Given the description of an element on the screen output the (x, y) to click on. 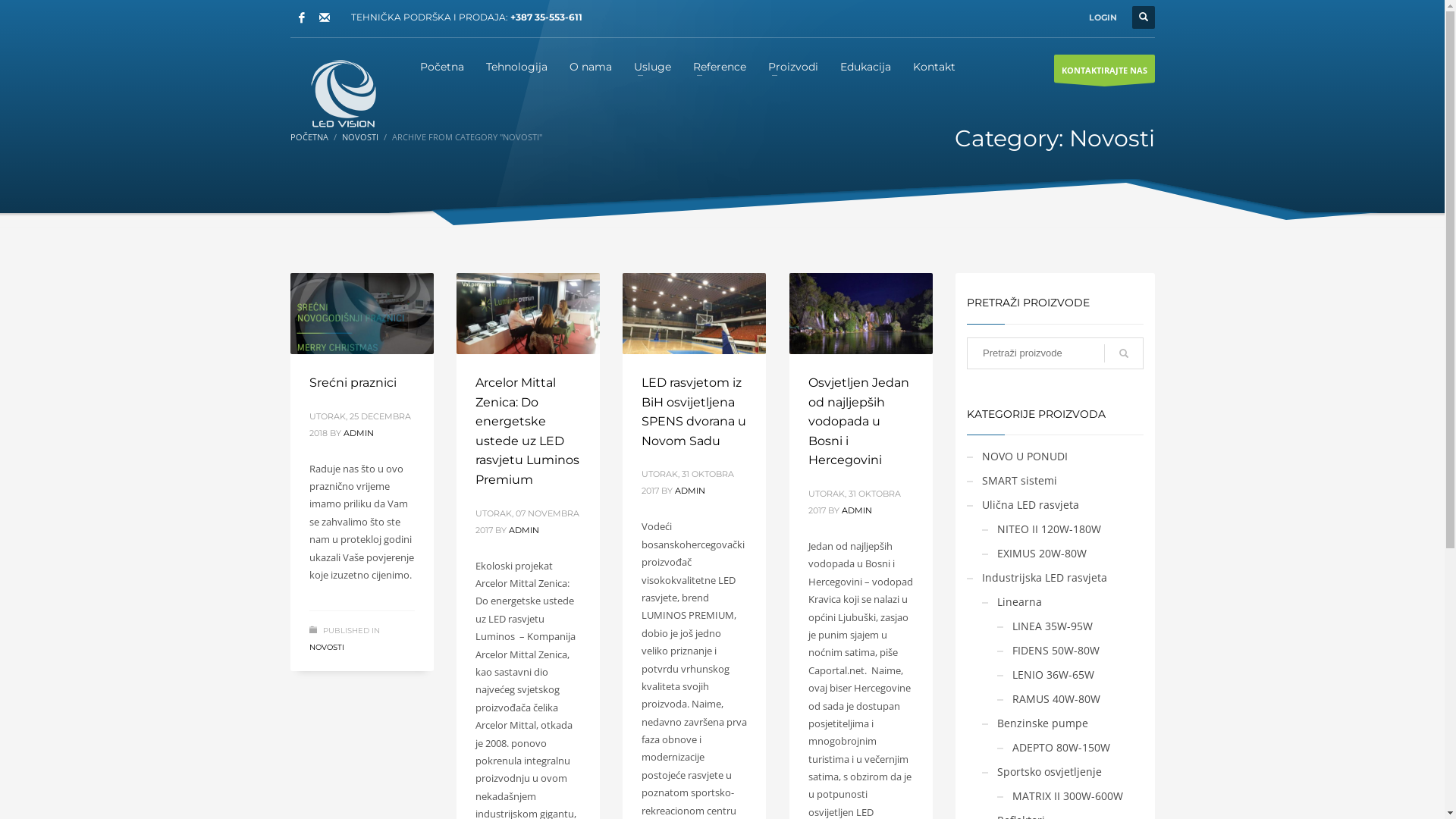
NOVO U PONUDI Element type: text (1016, 455)
Industrijska LED rasvjeta Element type: text (1036, 577)
Linearna Element type: text (1011, 601)
21768171_1430907277006383_9179887372578949151_n Element type: hover (859, 313)
LENIO 36W-65W Element type: text (1045, 674)
lv-cestitka Element type: hover (361, 313)
913cb513-9f8b-4641-bd5e-fb2f7a7b5999Spens_mala_dvorana Element type: hover (693, 313)
RAMUS 40W-80W Element type: text (1048, 698)
ADEPTO 80W-150W Element type: text (1053, 747)
LINEA 35W-95W Element type: text (1044, 625)
MATRIX II 300W-600W Element type: text (1060, 795)
Sportsko osvjetljenje Element type: text (1041, 771)
ADMIN Element type: text (523, 529)
NOVOSTI Element type: text (326, 647)
NITEO II 120W-180W Element type: text (1041, 528)
Tehnologija Element type: text (516, 65)
Reference Element type: text (719, 65)
ADMIN Element type: text (856, 510)
Facebook Element type: hover (300, 17)
EXIMUS 20W-80W Element type: text (1034, 552)
O nama Element type: text (590, 65)
Email Element type: hover (323, 17)
Usluge Element type: text (652, 65)
Proizvodi Element type: text (793, 65)
LED rasvjetom iz BiH osvijetljena SPENS dvorana u Novom Sadu Element type: text (693, 411)
ADMIN Element type: text (689, 490)
SMART sistemi Element type: text (1011, 480)
KONTAKTIRAJTE NAS Element type: text (1104, 68)
Edukacija Element type: text (865, 65)
ADMIN Element type: text (357, 432)
FIDENS 50W-80W Element type: text (1048, 650)
NOVOSTI Element type: text (359, 136)
Kontakt Element type: text (933, 65)
+387 35-553-611 Element type: text (545, 16)
Search for: Element type: hover (1054, 353)
Benzinske pumpe Element type: text (1035, 722)
LOGIN Element type: text (1102, 17)
Search Element type: text (1123, 353)
